Given the description of an element on the screen output the (x, y) to click on. 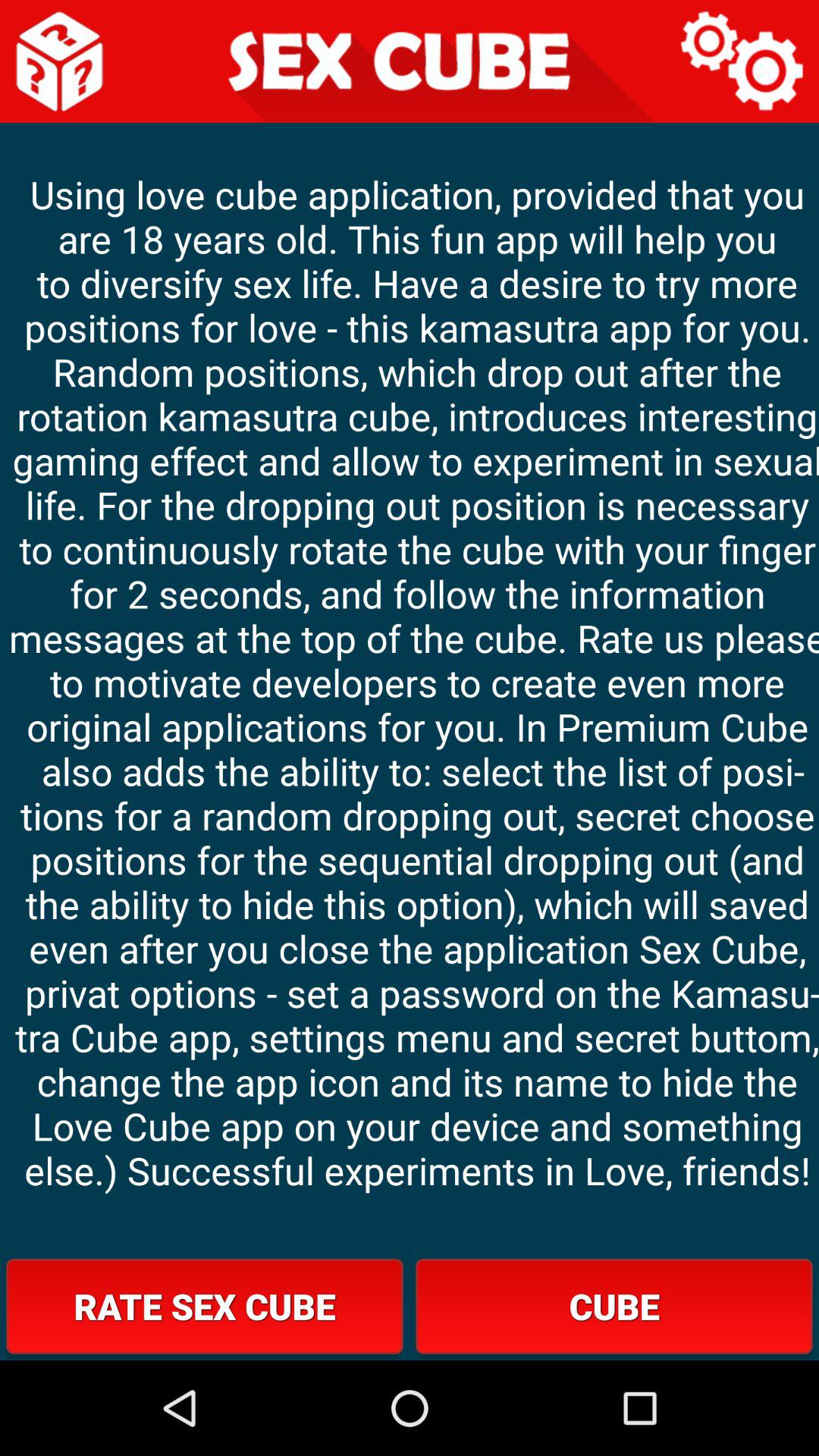
go to settings (743, 61)
